Given the description of an element on the screen output the (x, y) to click on. 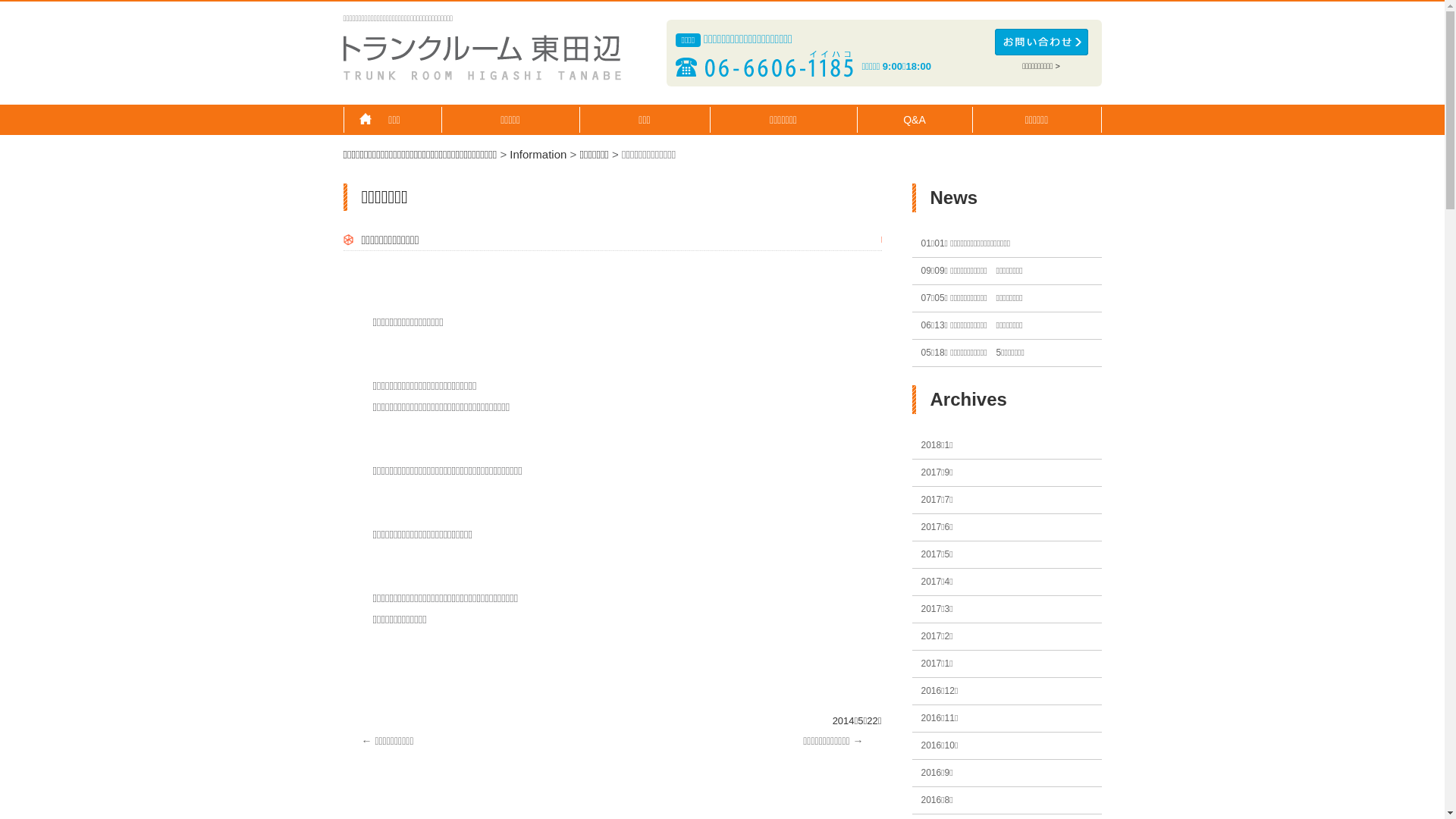
Q&A Element type: text (913, 119)
Information Element type: text (537, 153)
